Given the description of an element on the screen output the (x, y) to click on. 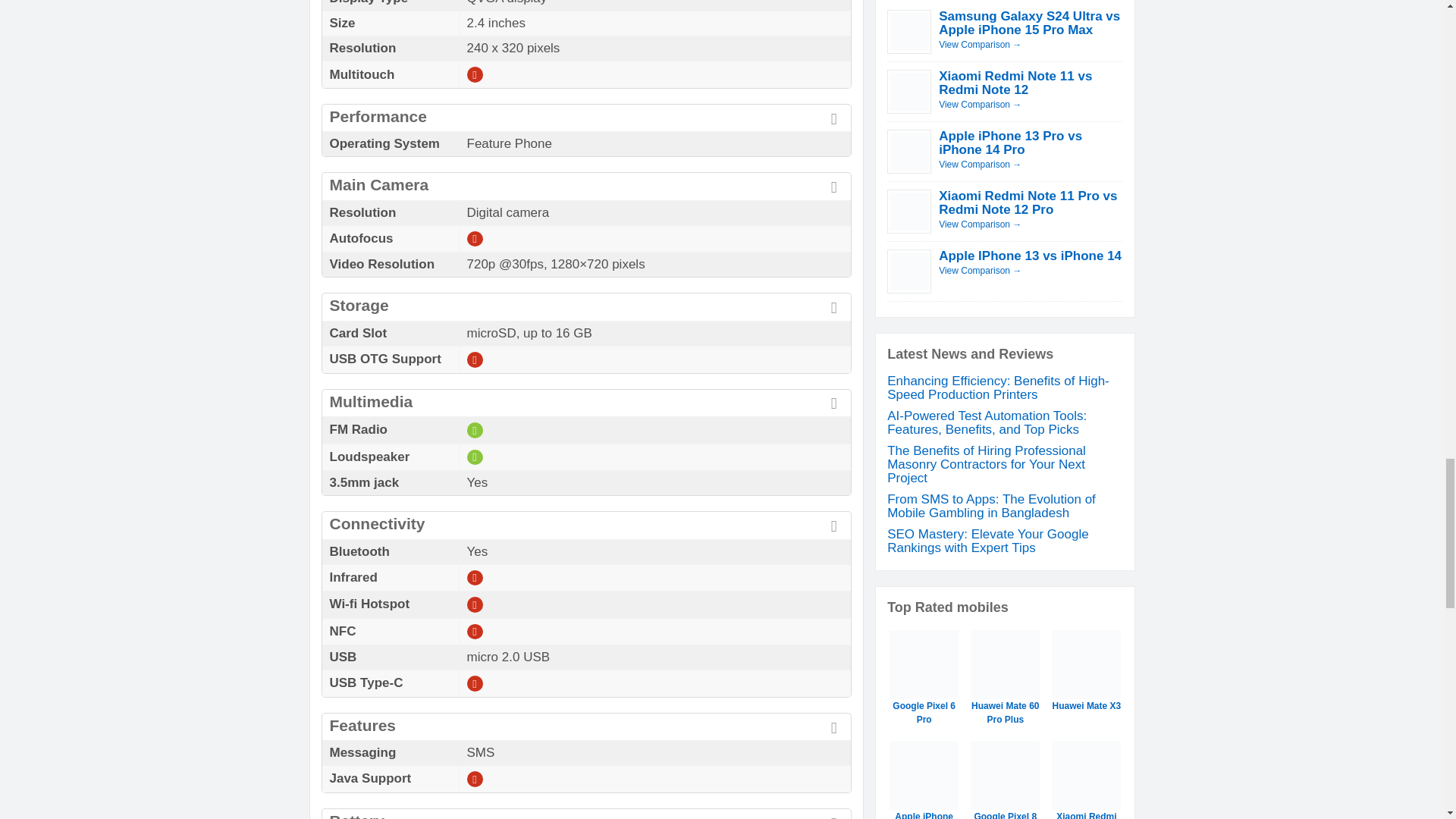
Samsung Galaxy S24 Ultra vs Apple iPhone 15 Pro Max (980, 44)
Xiaomi Redmi Note 11 vs Redmi Note 12 (1015, 82)
Apple iPhone 13 Pro vs iPhone 14 Pro (980, 163)
Samsung Galaxy S24 Ultra vs Apple iPhone 15 Pro Max (1029, 22)
Xiaomi Redmi Note 11 vs Redmi Note 12 (980, 104)
Apple iPhone 13 Pro vs iPhone 14 Pro (1010, 142)
